Given the description of an element on the screen output the (x, y) to click on. 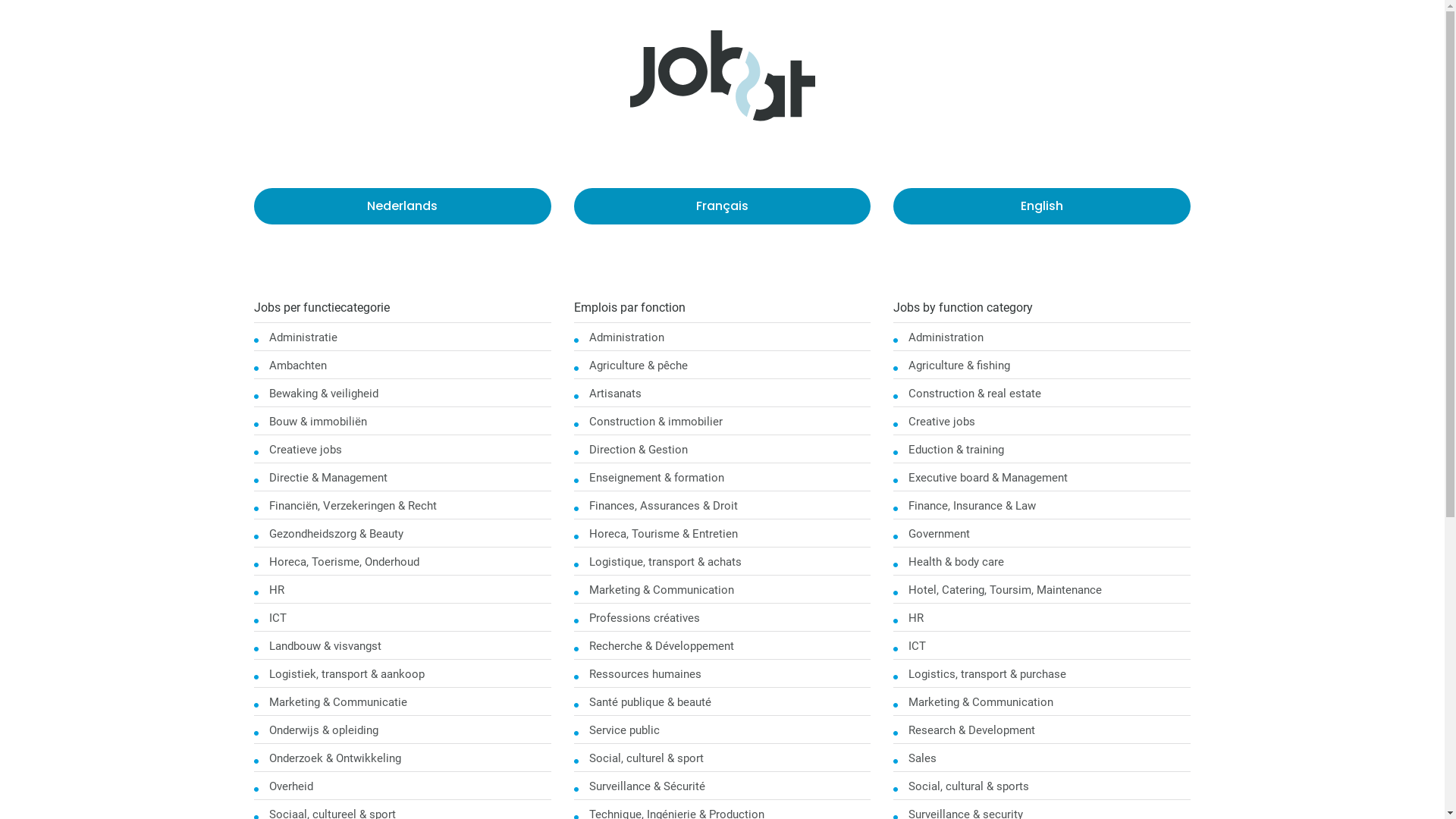
Creatieve jobs Element type: text (305, 449)
Administratie Element type: text (303, 337)
Logistics, transport & purchase Element type: text (987, 673)
HR Element type: text (915, 617)
Construction & immobilier Element type: text (655, 421)
Marketing & Communication Element type: text (980, 702)
Landbouw & visvangst Element type: text (325, 645)
Hotel, Catering, Toursim, Maintenance Element type: text (1004, 589)
Service public Element type: text (624, 730)
Nederlands Element type: text (402, 206)
ICT Element type: text (916, 645)
Marketing & Communication Element type: text (661, 589)
Finances, Assurances & Droit Element type: text (663, 505)
Ambachten Element type: text (297, 365)
Enseignement & formation Element type: text (656, 477)
Ressources humaines Element type: text (645, 673)
Creative jobs Element type: text (941, 421)
Health & body care Element type: text (956, 561)
Administration Element type: text (626, 337)
Bewaking & veiligheid Element type: text (323, 393)
Artisanats Element type: text (615, 393)
Eduction & training Element type: text (956, 449)
HR Element type: text (276, 589)
ICT Element type: text (277, 617)
Social, cultural & sports Element type: text (968, 786)
Horeca, Tourisme & Entretien Element type: text (663, 533)
Government Element type: text (938, 533)
Directie & Management Element type: text (328, 477)
Social, culturel & sport Element type: text (646, 758)
Research & Development Element type: text (971, 730)
Onderwijs & opleiding Element type: text (323, 730)
English Element type: text (1041, 206)
Finance, Insurance & Law Element type: text (971, 505)
Logistique, transport & achats Element type: text (665, 561)
Construction & real estate Element type: text (974, 393)
Sales Element type: text (922, 758)
Direction & Gestion Element type: text (638, 449)
Administration Element type: text (945, 337)
Horeca, Toerisme, Onderhoud Element type: text (344, 561)
Logistiek, transport & aankoop Element type: text (346, 673)
Gezondheidszorg & Beauty Element type: text (336, 533)
Onderzoek & Ontwikkeling Element type: text (335, 758)
Executive board & Management Element type: text (987, 477)
Marketing & Communicatie Element type: text (338, 702)
Overheid Element type: text (291, 786)
Agriculture & fishing Element type: text (959, 365)
